Given the description of an element on the screen output the (x, y) to click on. 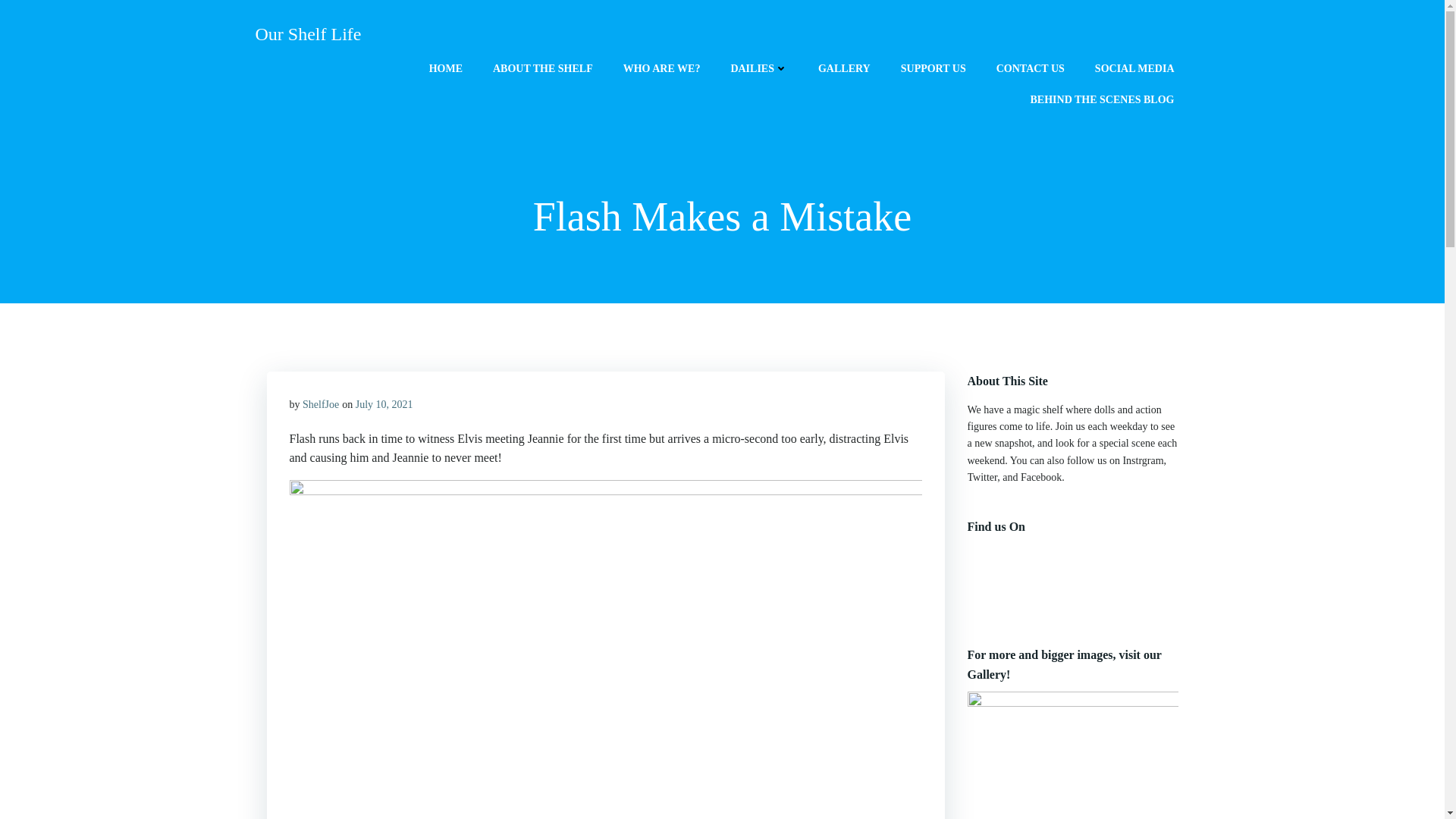
Our Shelf Life (307, 33)
SUPPORT US (933, 68)
CONTACT US (1029, 68)
GALLERY (844, 68)
ShelfJoe (320, 404)
DAILIES (758, 68)
HOME (446, 68)
BEHIND THE SCENES BLOG (1102, 99)
SOCIAL MEDIA (1134, 68)
WHO ARE WE? (661, 68)
